Given the description of an element on the screen output the (x, y) to click on. 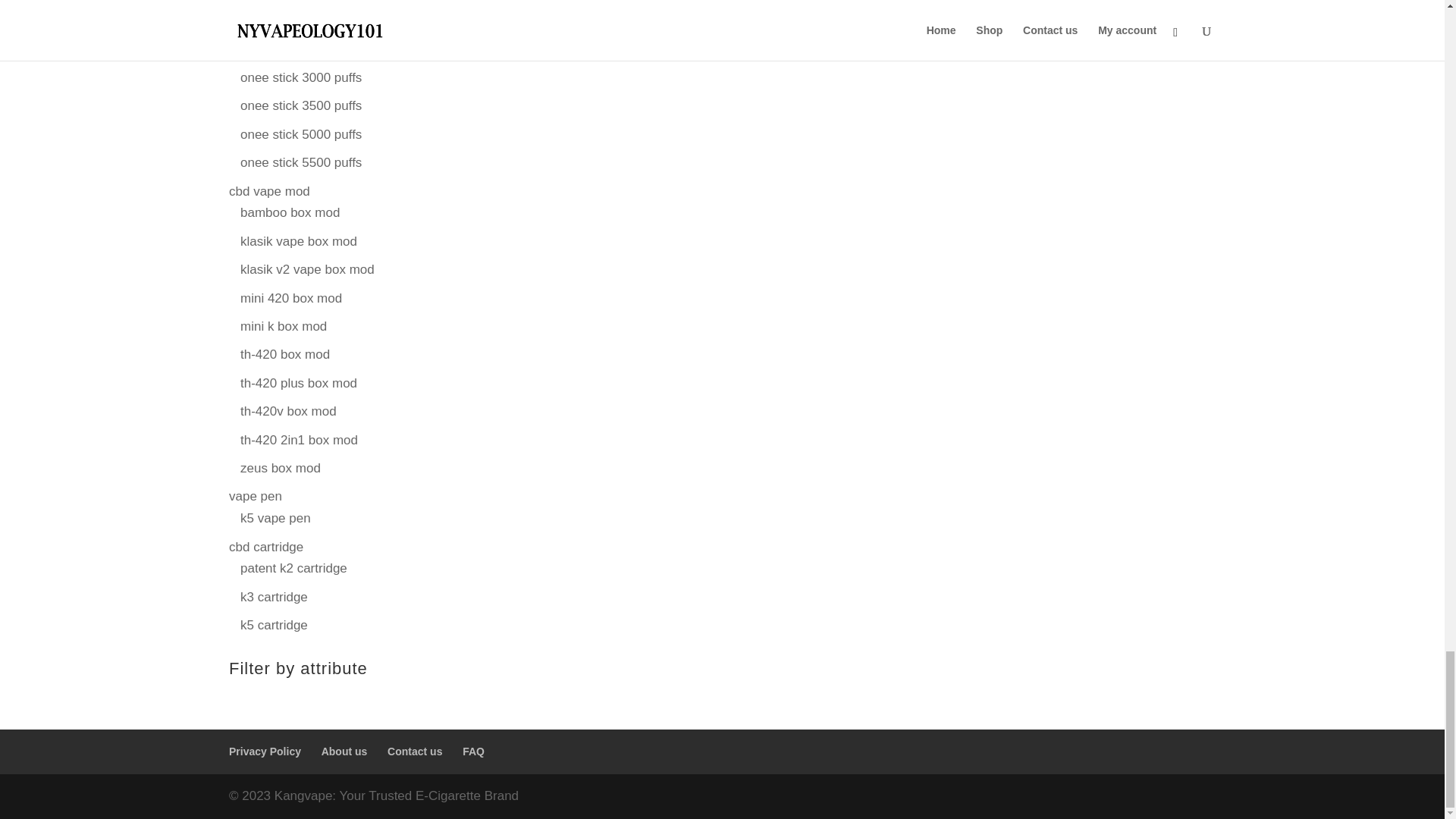
onee stick 3000 puffs (300, 77)
onee stick 2500 puffs (300, 49)
stick plus 2300 puffs (298, 20)
